Given the description of an element on the screen output the (x, y) to click on. 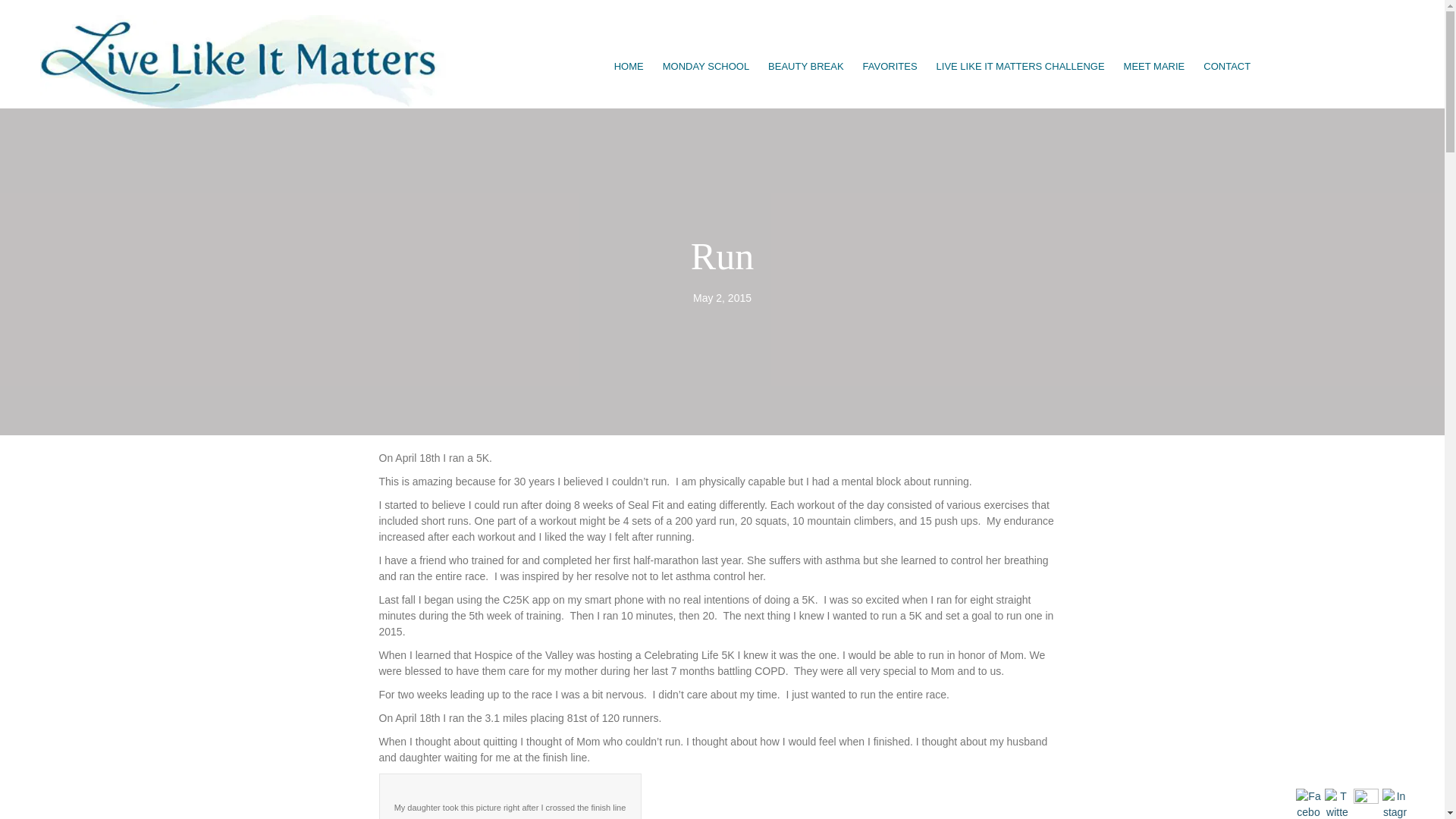
MEET MARIE (1154, 66)
LIVE LIKE IT MATTERS CHALLENGE (1020, 66)
BEAUTY BREAK (804, 66)
CONTACT (1226, 66)
FAVORITES (889, 66)
marie-logo (244, 61)
MONDAY SCHOOL (705, 66)
HOME (628, 66)
